Given the description of an element on the screen output the (x, y) to click on. 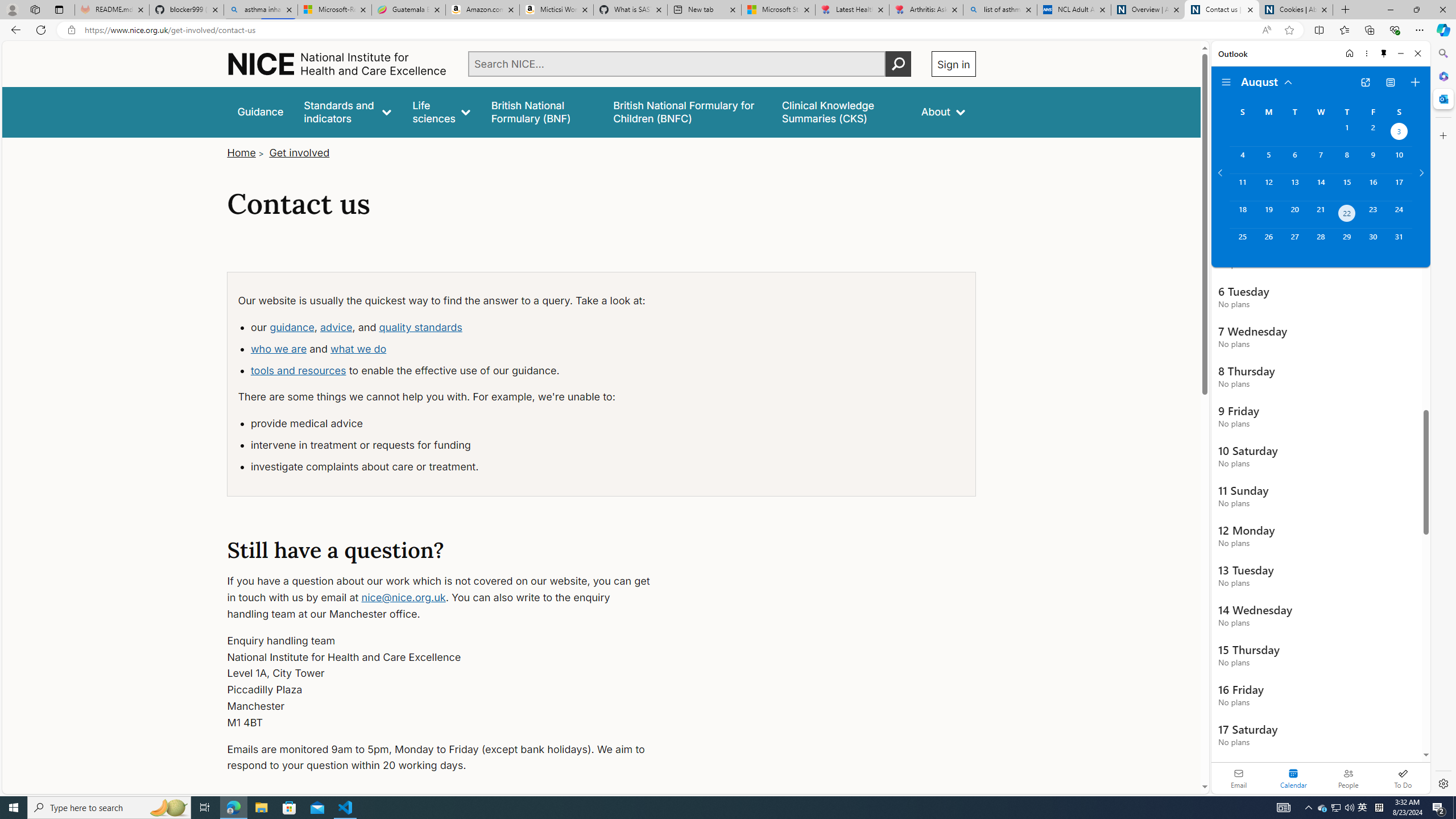
People (1347, 777)
Cookies | About | NICE (1295, 9)
nice@nice.org.uk (403, 597)
View Switcher. Current view is Agenda view (1390, 82)
Thursday, August 15, 2024.  (1346, 186)
Sunday, August 18, 2024.  (1242, 214)
